Given the description of an element on the screen output the (x, y) to click on. 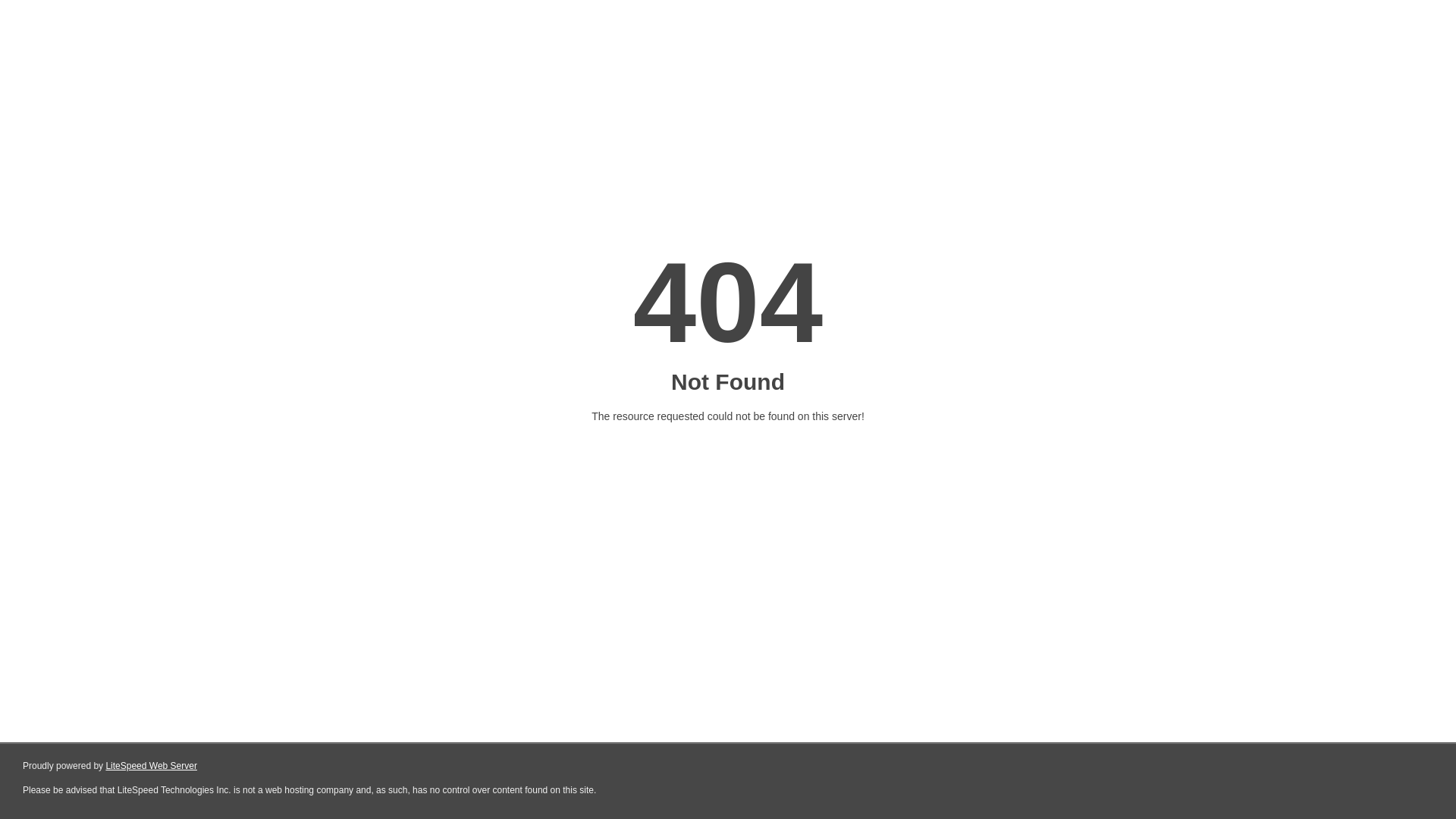
LiteSpeed Web Server Element type: text (151, 765)
